Given the description of an element on the screen output the (x, y) to click on. 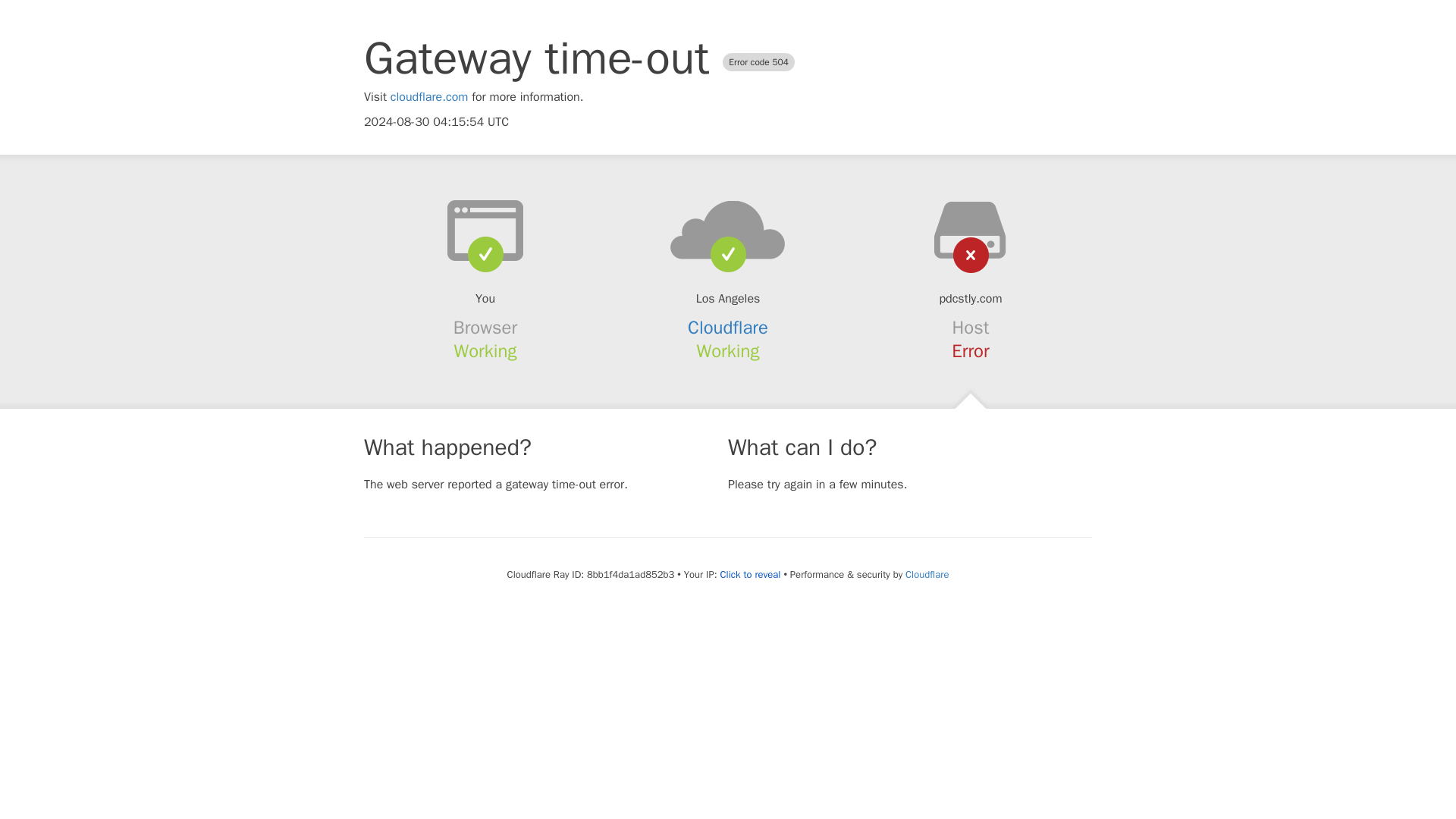
Click to reveal (750, 574)
Cloudflare (927, 574)
Cloudflare (727, 327)
cloudflare.com (429, 96)
